Given the description of an element on the screen output the (x, y) to click on. 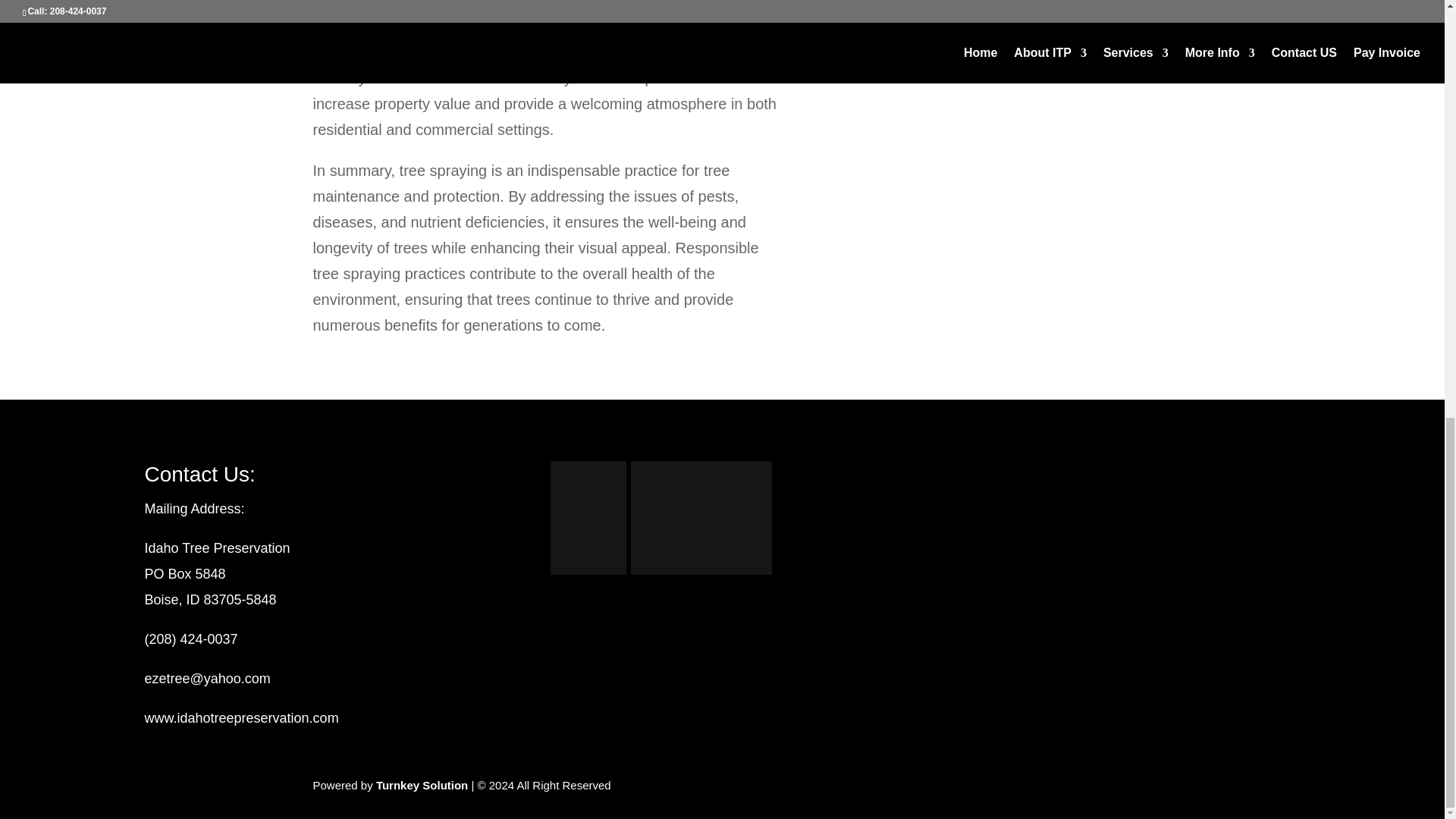
Turnkey Solution (421, 784)
Turnkey Solution (421, 784)
